Given the description of an element on the screen output the (x, y) to click on. 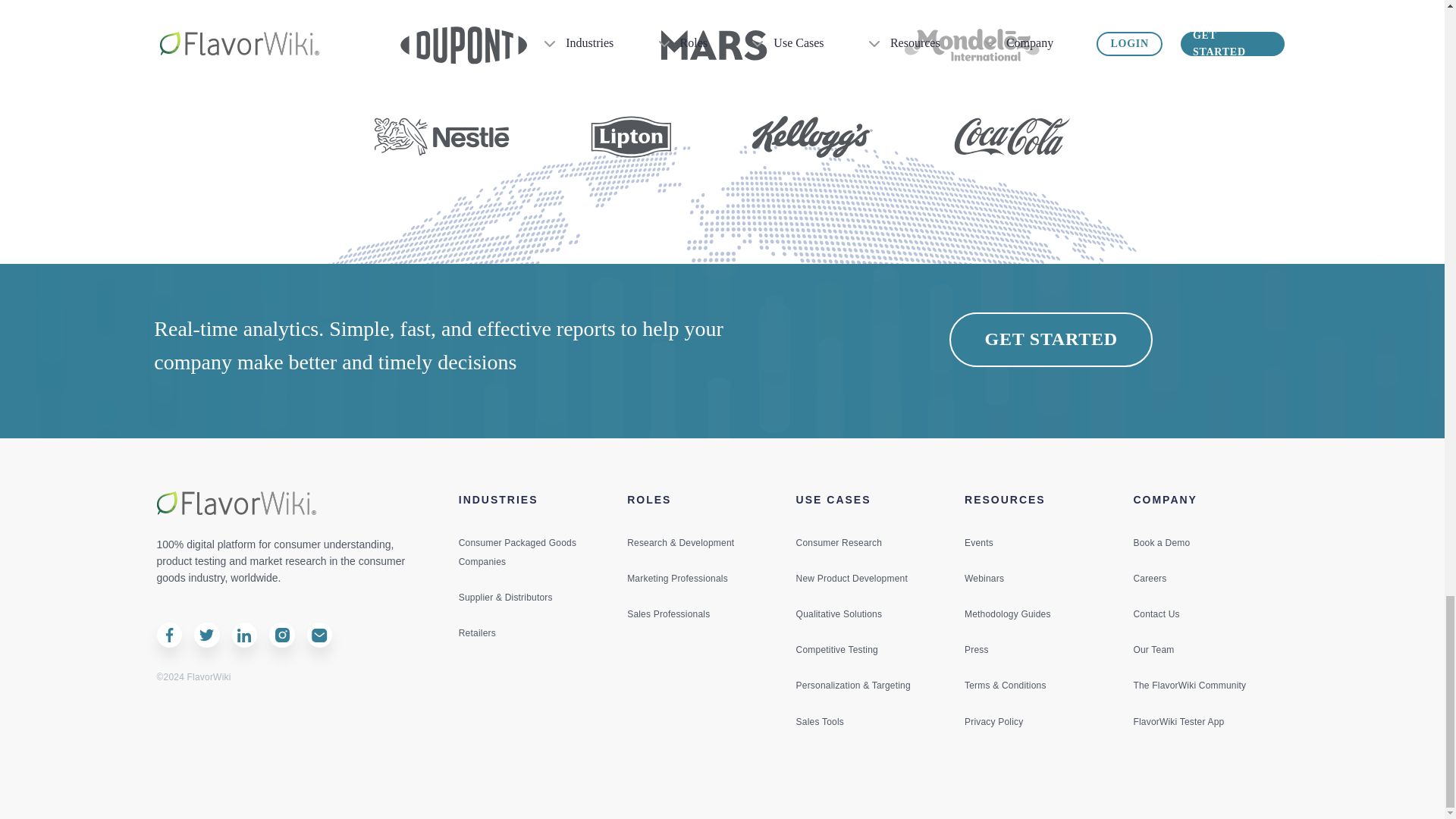
Sales Tools (820, 723)
New Product Development (851, 580)
Competitive Testing (836, 651)
Consumer Packaged Goods Companies (517, 553)
Methodology Guides (1007, 615)
Webinars (983, 580)
Qualitative Solutions (839, 615)
Contact Us (1155, 615)
Our Team (1152, 651)
Press (975, 651)
